Given the description of an element on the screen output the (x, y) to click on. 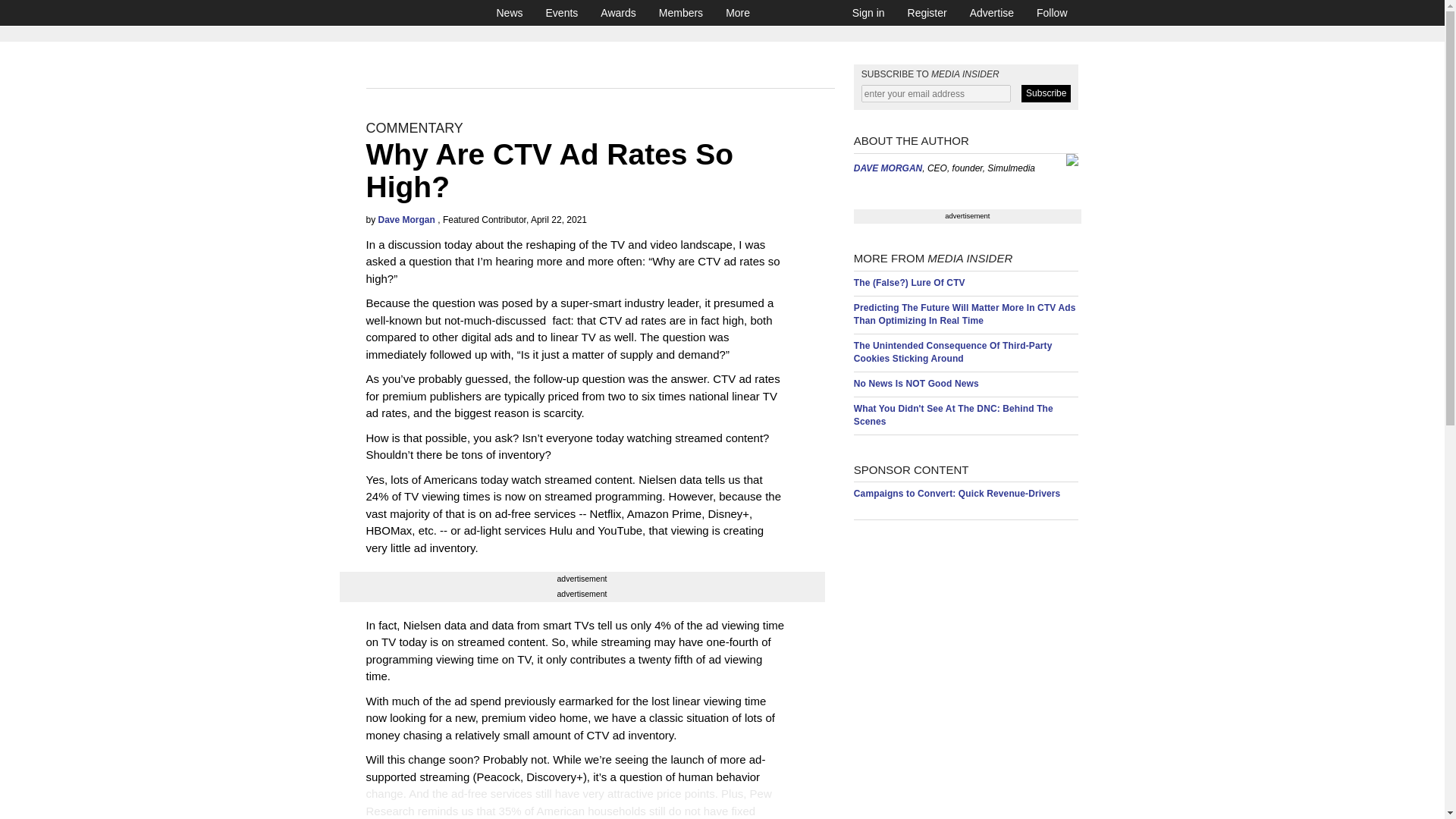
Share on Twitter (379, 802)
Share on LinkedIn (449, 802)
Subscribe (1046, 93)
Share on Facebook (414, 802)
News (509, 12)
